Given the description of an element on the screen output the (x, y) to click on. 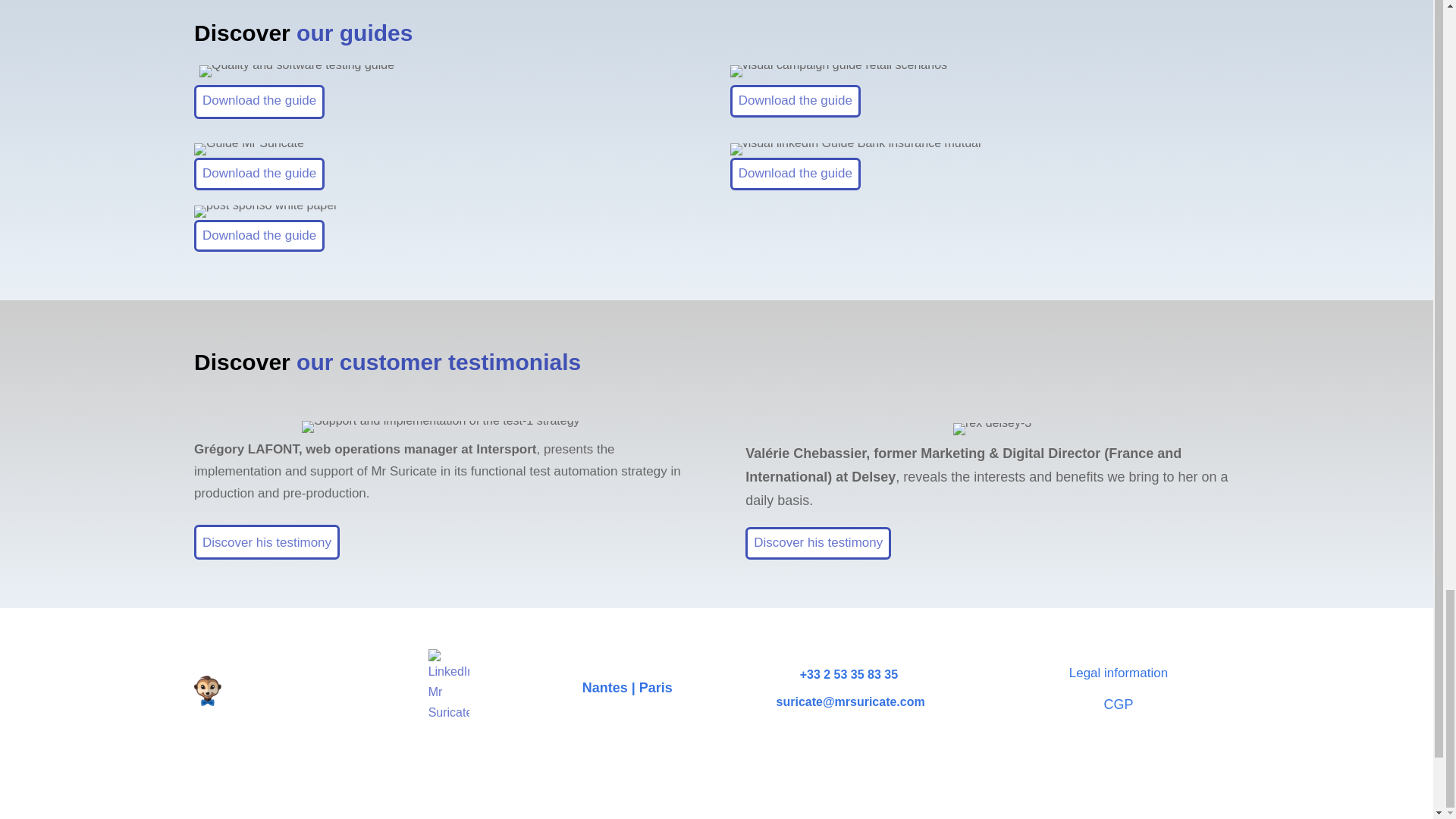
visual campaign guide retail scenarios (838, 70)
Guide Mr Suricate (248, 149)
rex delsey-3 (991, 428)
Support and implementation of the test-1 strategy (440, 426)
visual linkedIn Guide Bank insurance mutual (855, 149)
post sponso white paper (265, 211)
Quality and software testing guide (296, 70)
MrSuricate-logo-white-1 (269, 690)
